Given the description of an element on the screen output the (x, y) to click on. 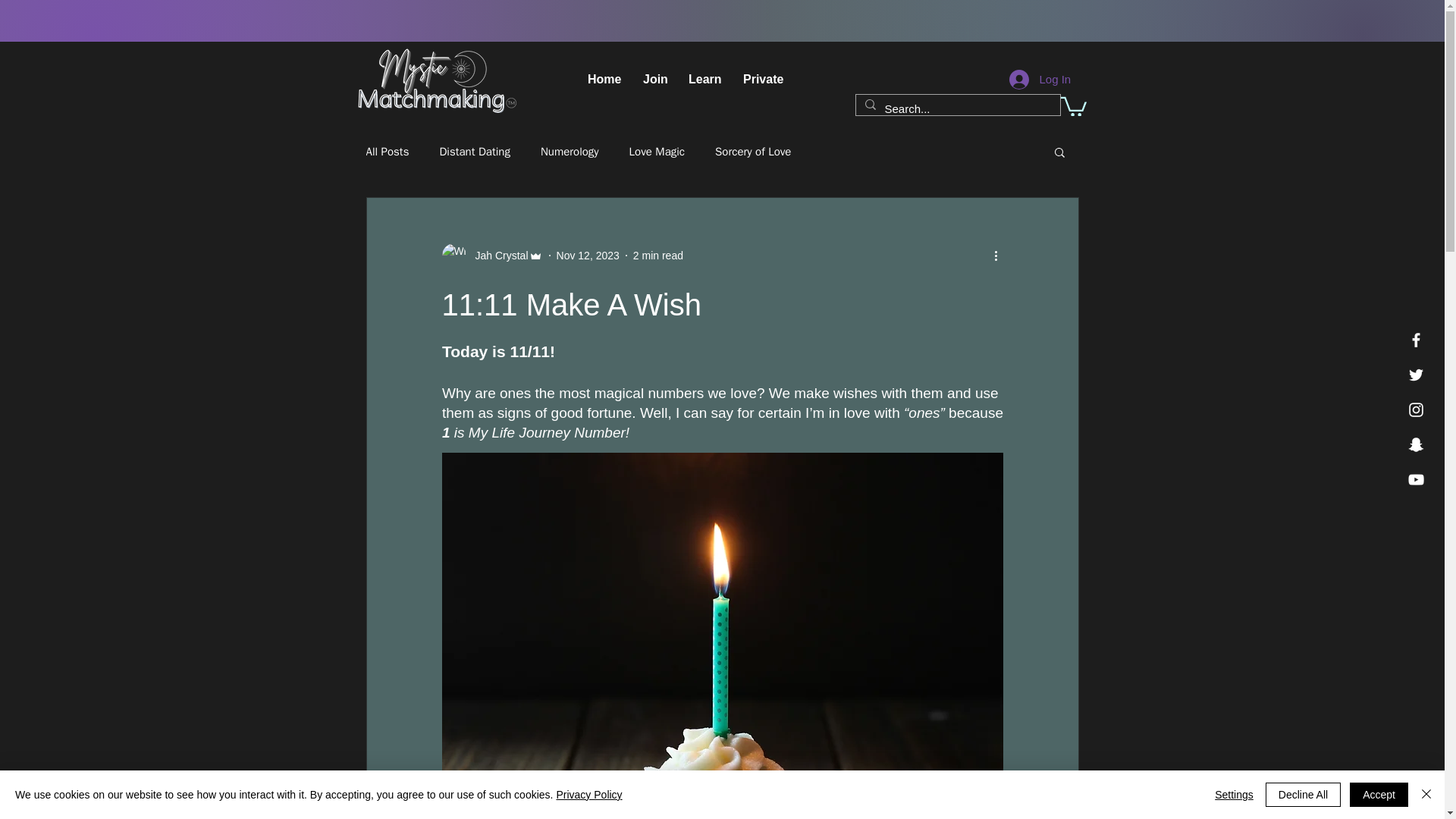
Distant Dating (474, 151)
Become A Founding Member (436, 79)
Home (603, 79)
Numerology (569, 151)
Sorcery of Love (752, 151)
Nov 12, 2023 (588, 255)
Jah Crystal (491, 255)
2 min read (657, 255)
Log In (1028, 79)
All Posts (387, 151)
Jah Crystal (496, 255)
Love Magic (656, 151)
